Given the description of an element on the screen output the (x, y) to click on. 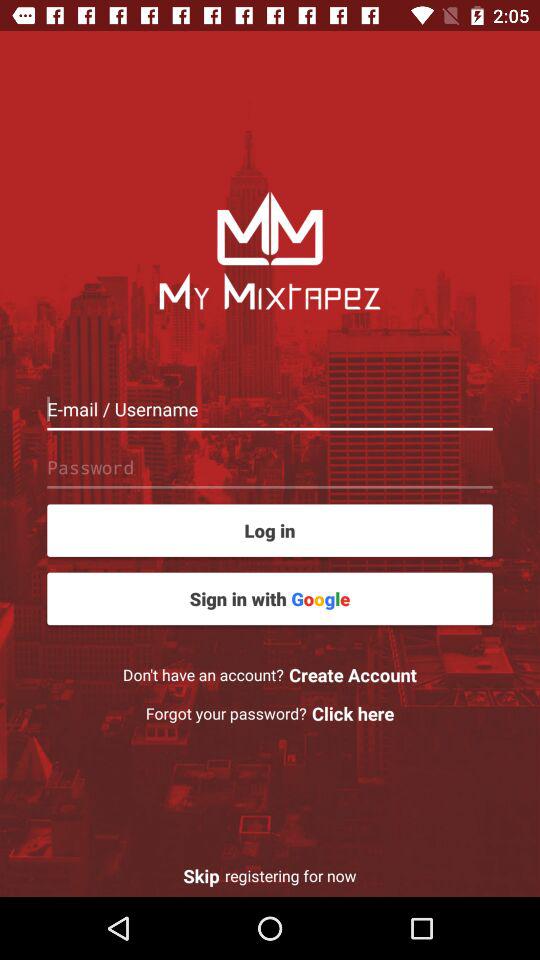
enter email or username (270, 408)
